Given the description of an element on the screen output the (x, y) to click on. 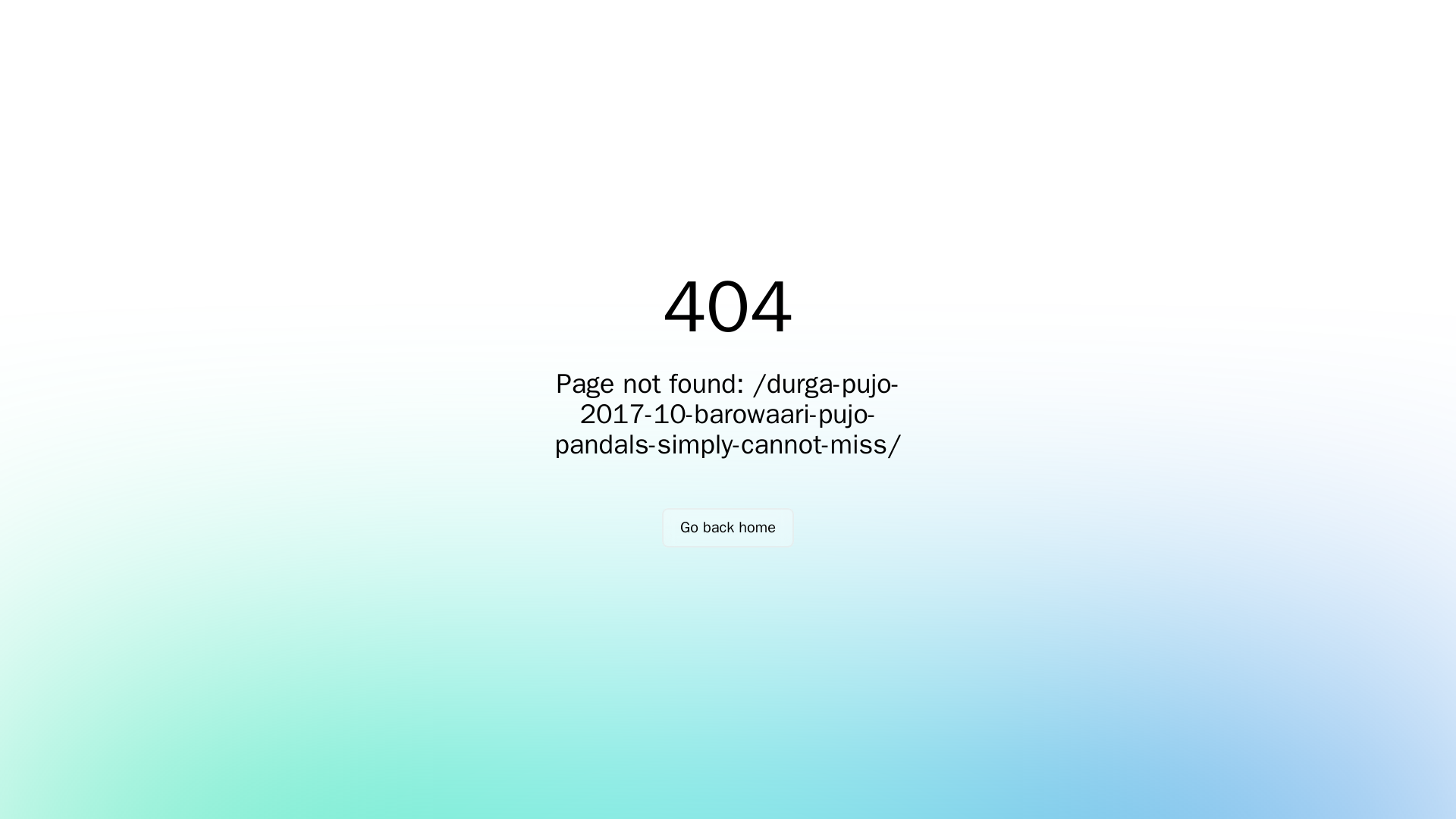
Go back home (727, 527)
